Given the description of an element on the screen output the (x, y) to click on. 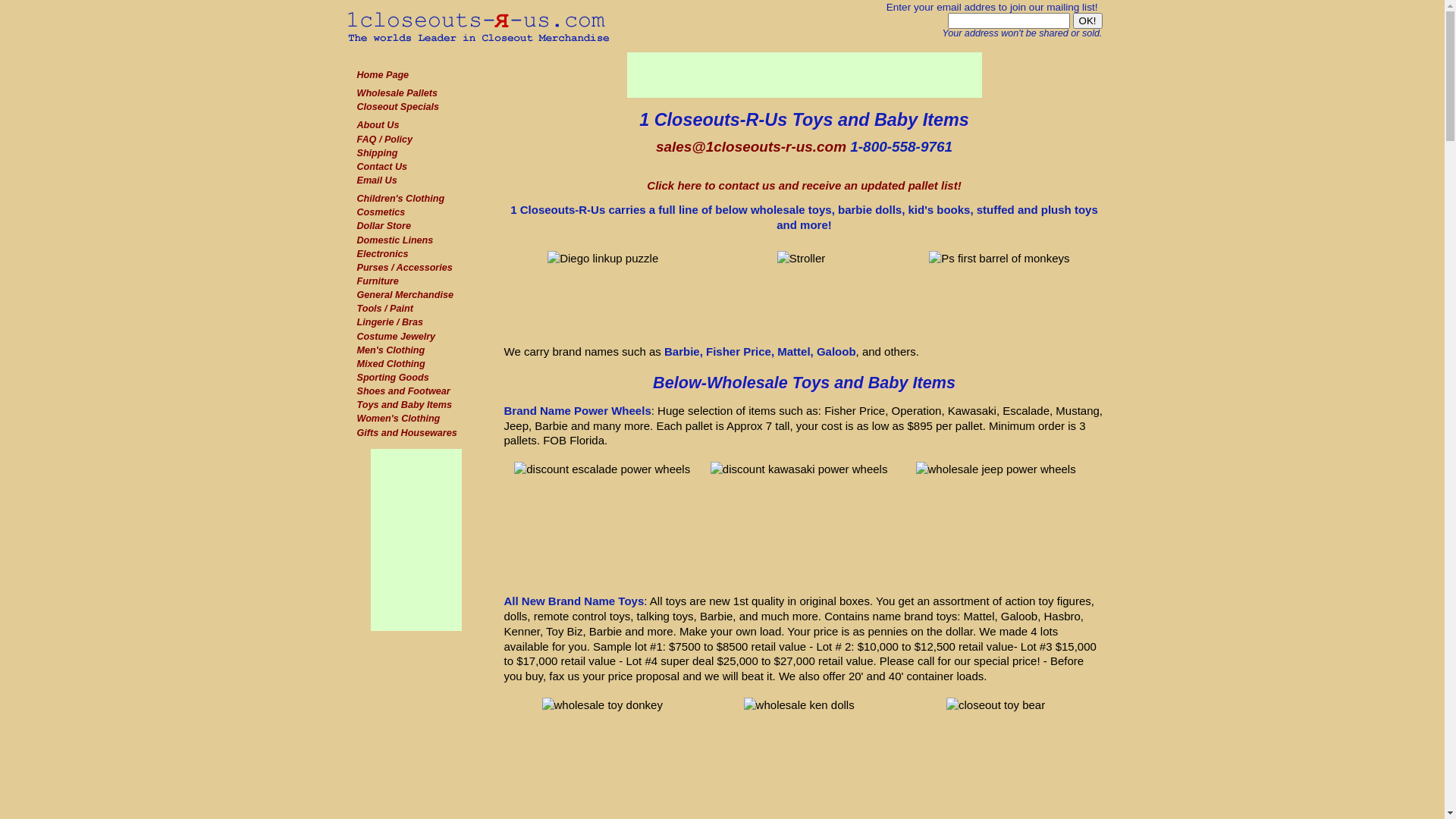
Women's Clothing Element type: text (397, 418)
Closeout Specials Element type: text (397, 106)
Email Us Element type: text (376, 180)
Home Page Element type: text (382, 74)
Toys and Baby Items Element type: text (403, 404)
FAQ / Policy Element type: text (383, 139)
OK! Element type: text (1087, 20)
General Merchandise Element type: text (404, 294)
Cosmetics Element type: text (380, 212)
Wholesale Pallets Element type: text (396, 92)
Domestic Linens Element type: text (394, 240)
Electronics Element type: text (381, 253)
Men's Clothing Element type: text (390, 350)
Children's Clothing Element type: text (400, 198)
Shipping Element type: text (376, 152)
Mixed Clothing Element type: text (390, 363)
Furniture Element type: text (377, 281)
Click here to contact us and receive an updated pallet list! Element type: text (803, 184)
Contact Us Element type: text (381, 166)
Tools / Paint Element type: text (384, 308)
Lingerie / Bras Element type: text (389, 321)
Costume Jewelry Element type: text (395, 336)
Gifts and Housewares Element type: text (406, 432)
sales@1closeouts-r-us.com Element type: text (750, 146)
Purses / Accessories Element type: text (403, 267)
About Us Element type: text (377, 124)
Sporting Goods Element type: text (392, 377)
Dollar Store Element type: text (383, 225)
Shoes and Footwear Element type: text (402, 390)
